Given the description of an element on the screen output the (x, y) to click on. 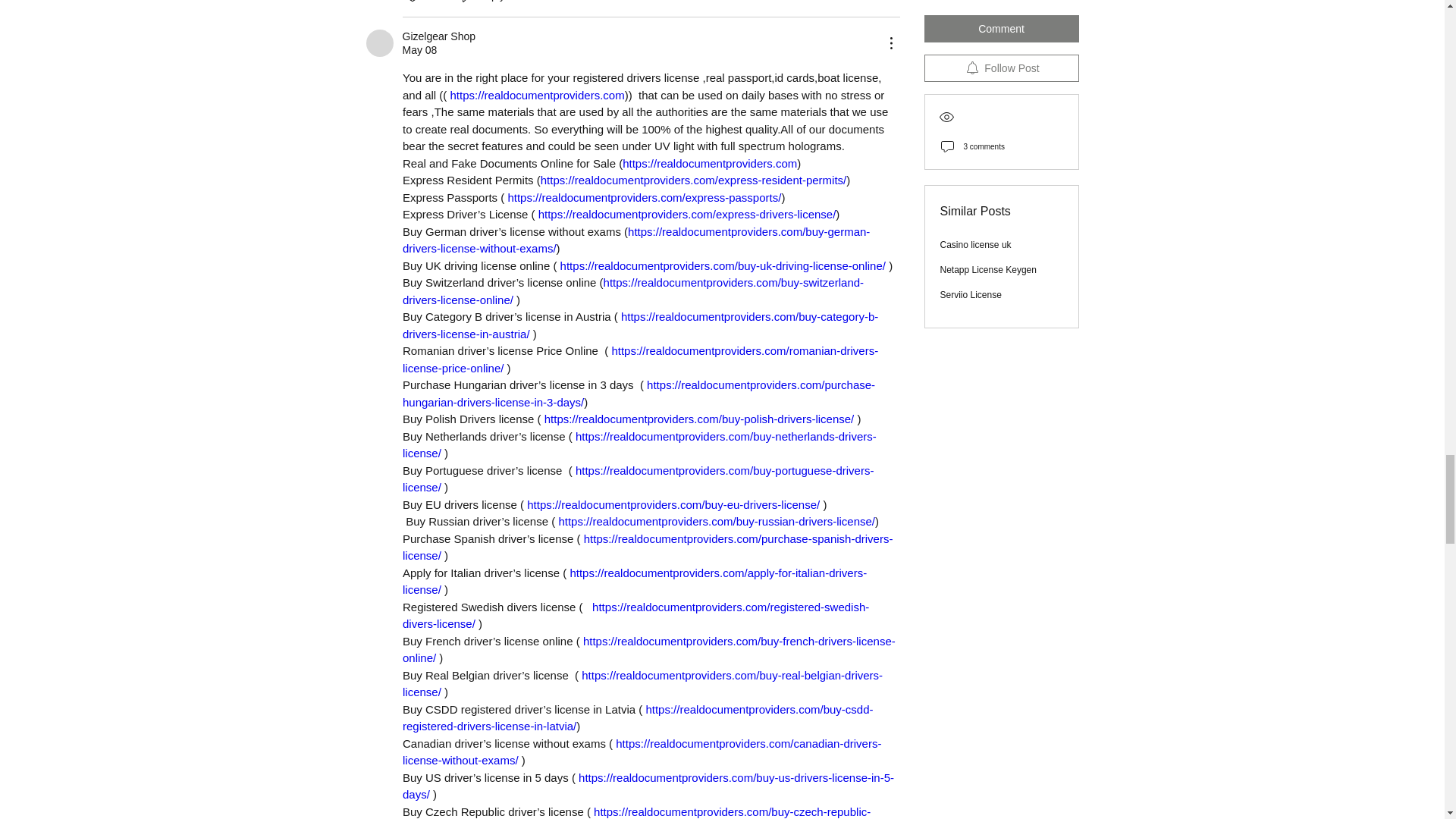
Gizelgear Shop (379, 42)
